Given the description of an element on the screen output the (x, y) to click on. 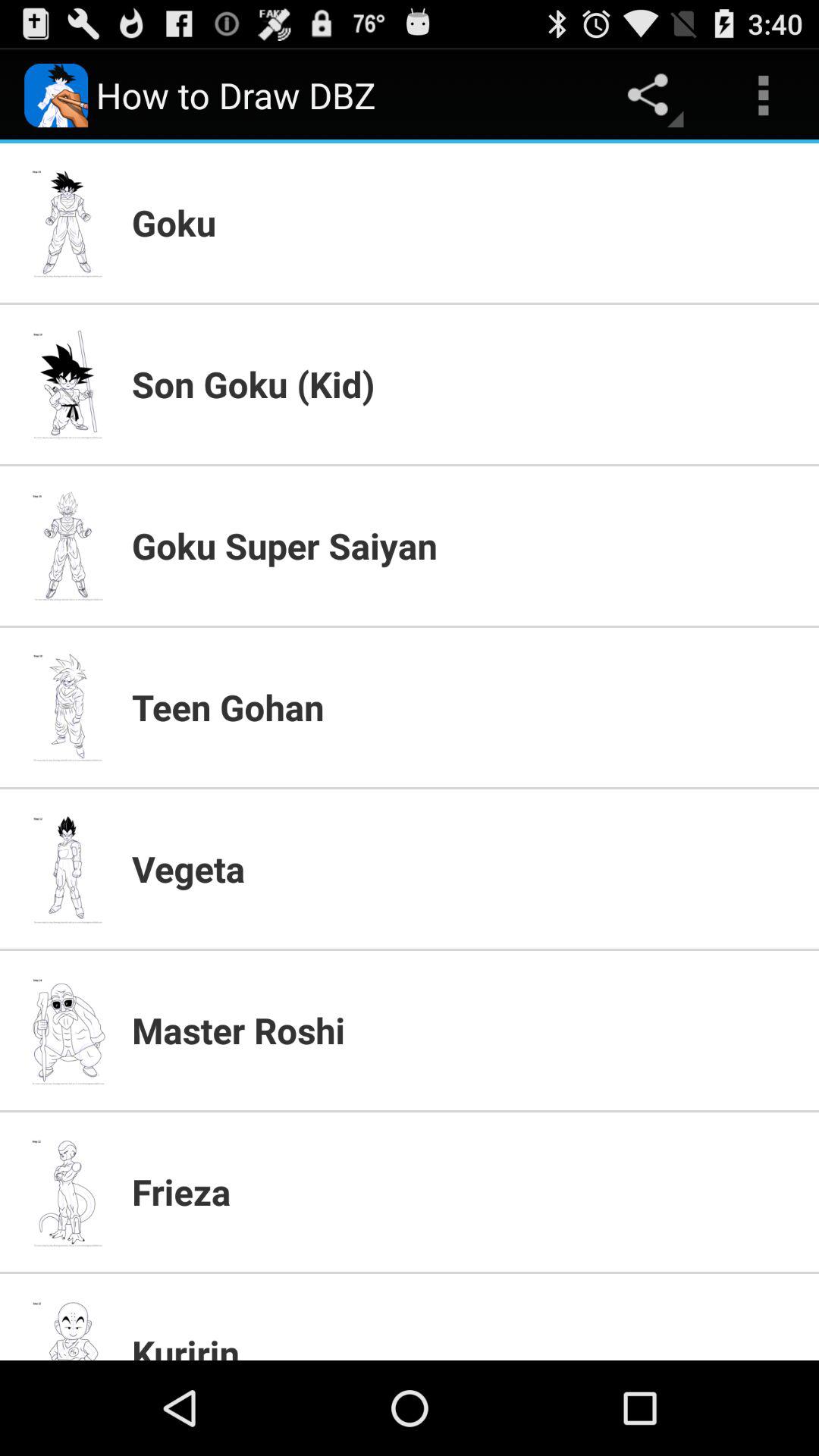
flip until frieza (465, 1191)
